Given the description of an element on the screen output the (x, y) to click on. 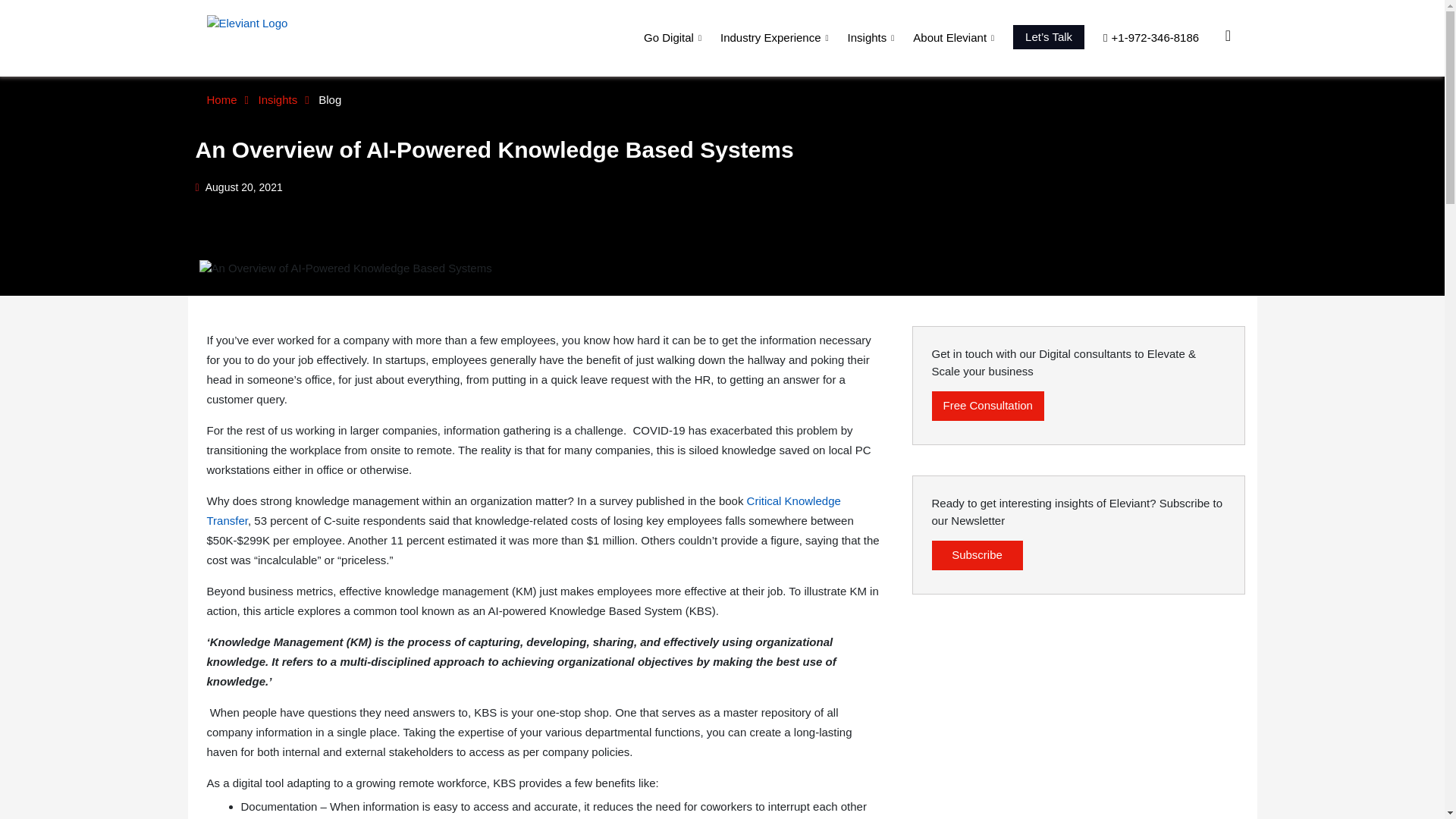
Industry Experience (776, 37)
Go Digital (674, 37)
Insights (872, 37)
About Eleviant (955, 37)
